Given the description of an element on the screen output the (x, y) to click on. 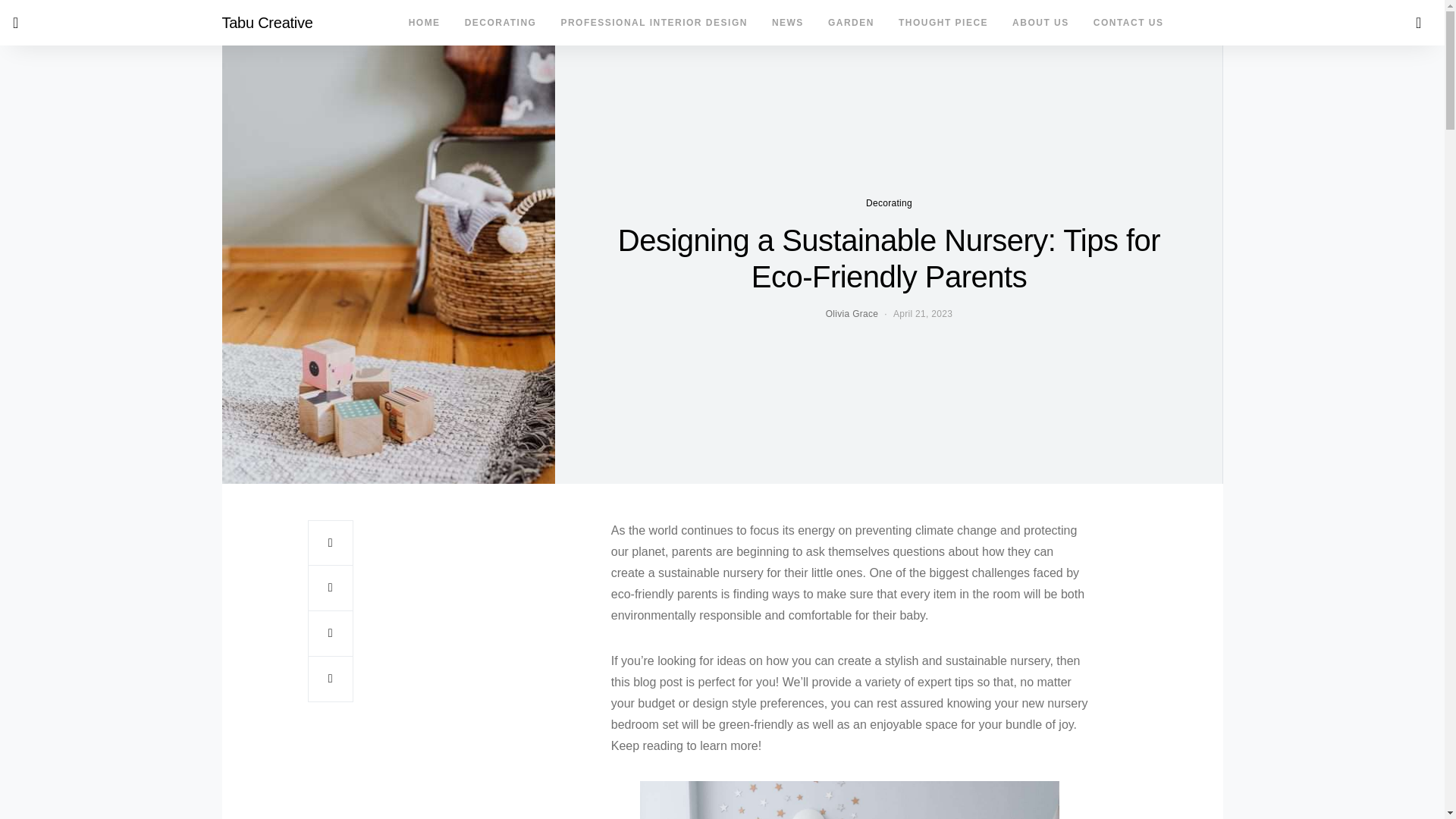
CONTACT US (1122, 22)
Tabu Creative (267, 22)
PROFESSIONAL INTERIOR DESIGN (653, 22)
Decorating (889, 203)
View all posts by Olivia Grace (852, 314)
ABOUT US (1040, 22)
Olivia Grace (852, 314)
NEWS (787, 22)
DECORATING (500, 22)
GARDEN (850, 22)
HOME (424, 22)
THOUGHT PIECE (943, 22)
